Given the description of an element on the screen output the (x, y) to click on. 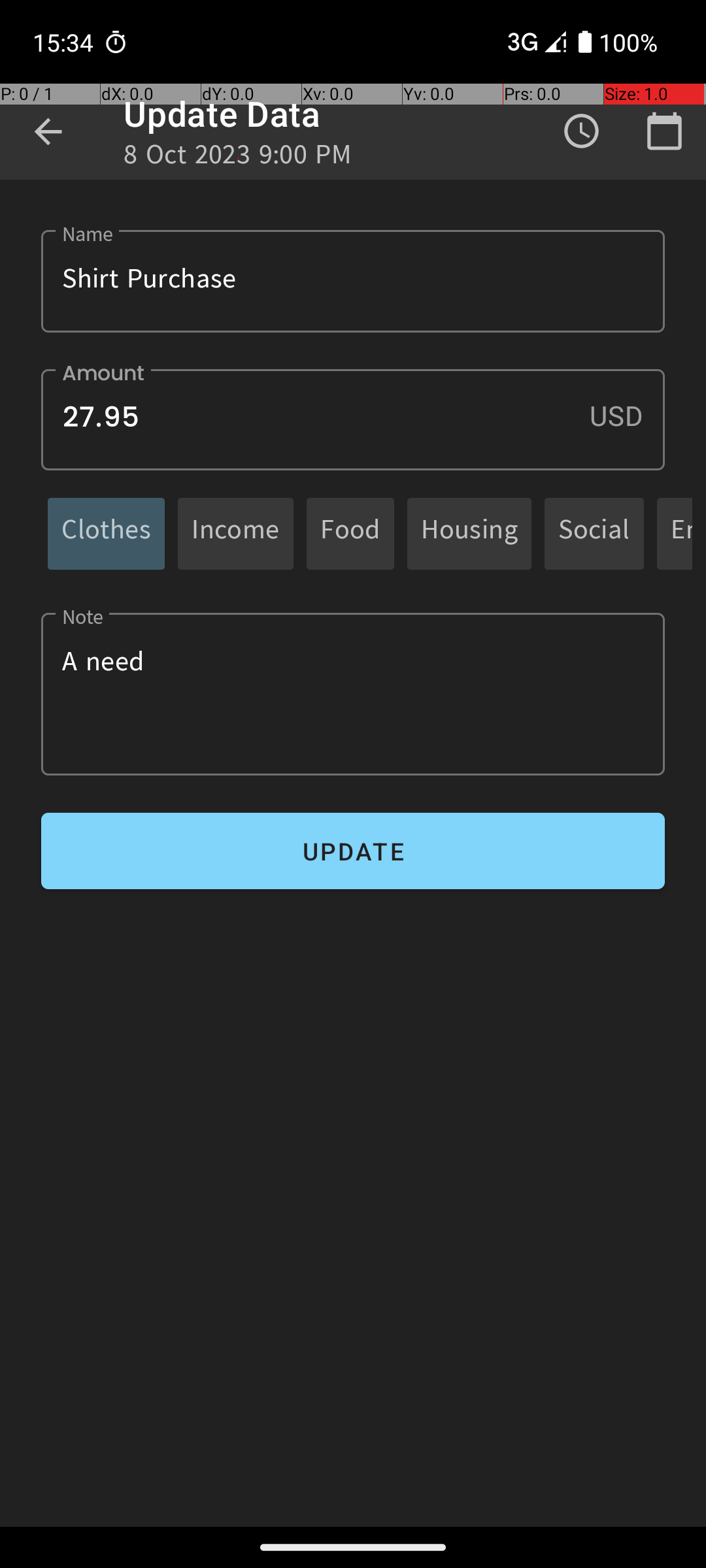
8 Oct 2023 9:00 PM Element type: android.widget.TextView (237, 157)
Shirt Purchase Element type: android.widget.EditText (352, 280)
27.95 Element type: android.widget.EditText (352, 419)
A need Element type: android.widget.EditText (352, 693)
Clothes Element type: android.widget.TextView (106, 533)
